Given the description of an element on the screen output the (x, y) to click on. 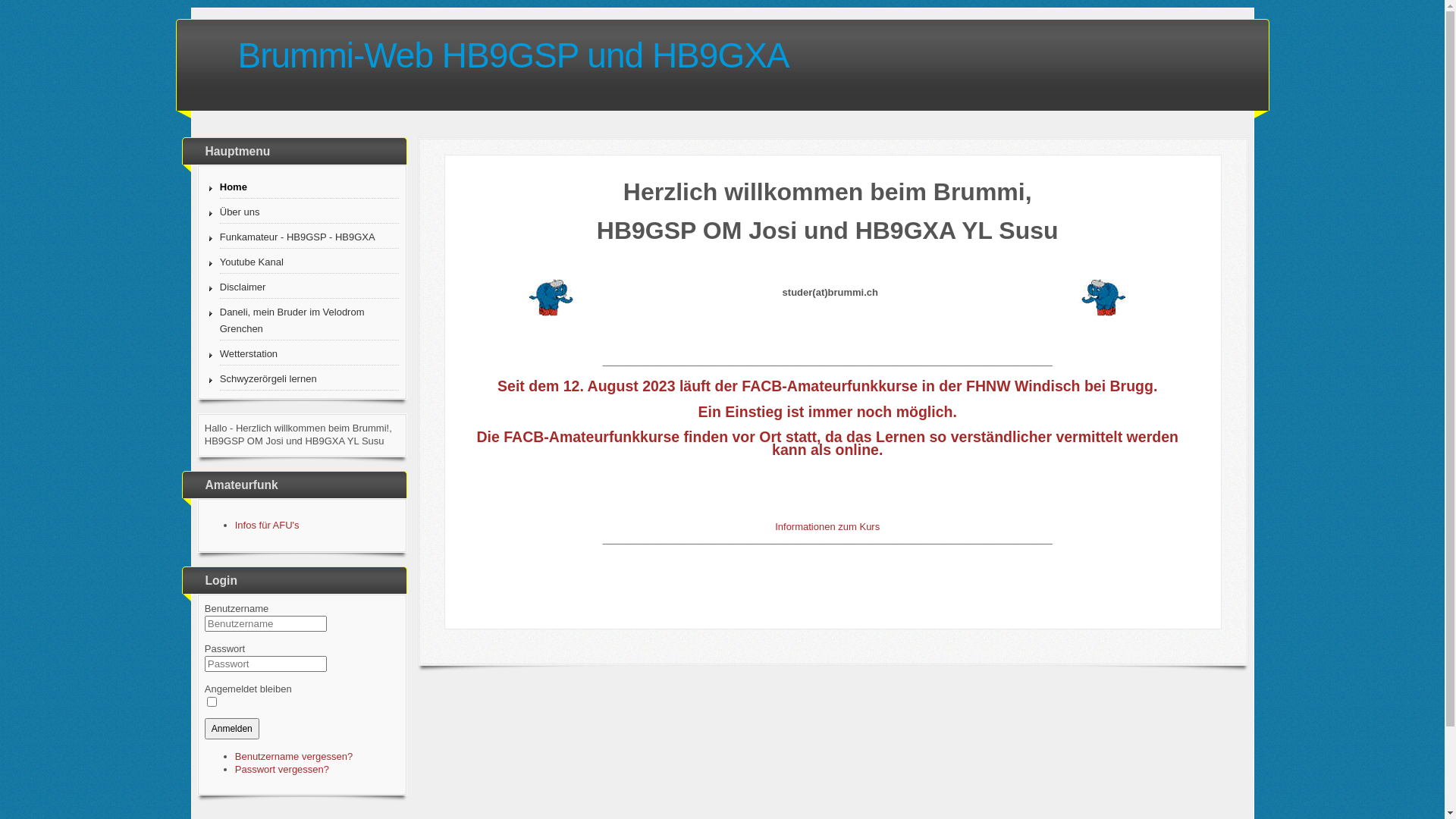
Anmelden Element type: text (231, 728)
Home Element type: text (309, 187)
Seit Element type: text (510, 385)
Youtube Kanal Element type: text (309, 262)
Disclaimer Element type: text (309, 287)
Wetterstation Element type: text (309, 354)
Passwort vergessen? Element type: text (282, 769)
Brummi-Web HB9GSP und HB9GXA Element type: text (730, 51)
Informationen zum Kurs Element type: text (827, 526)
Benutzername vergessen? Element type: text (293, 756)
Funkamateur - HB9GSP - HB9GXA Element type: text (309, 237)
Daneli, mein Bruder im Velodrom Grenchen Element type: text (309, 320)
